Given the description of an element on the screen output the (x, y) to click on. 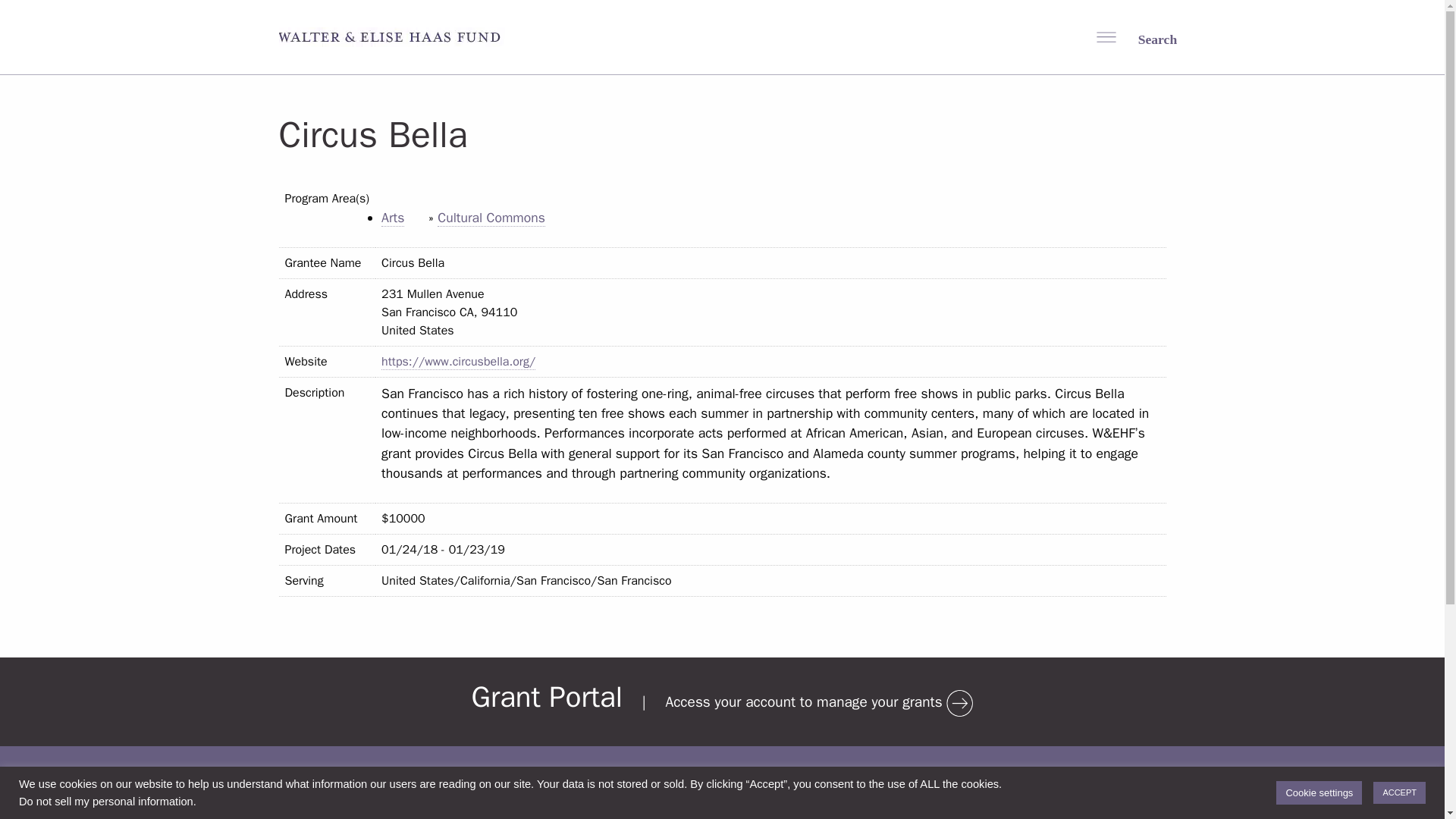
Cultural Commons (491, 217)
Cookie settings (1318, 792)
Search (1147, 38)
ACCEPT (1399, 792)
Do not sell my personal information (105, 801)
Arts (392, 217)
